Given the description of an element on the screen output the (x, y) to click on. 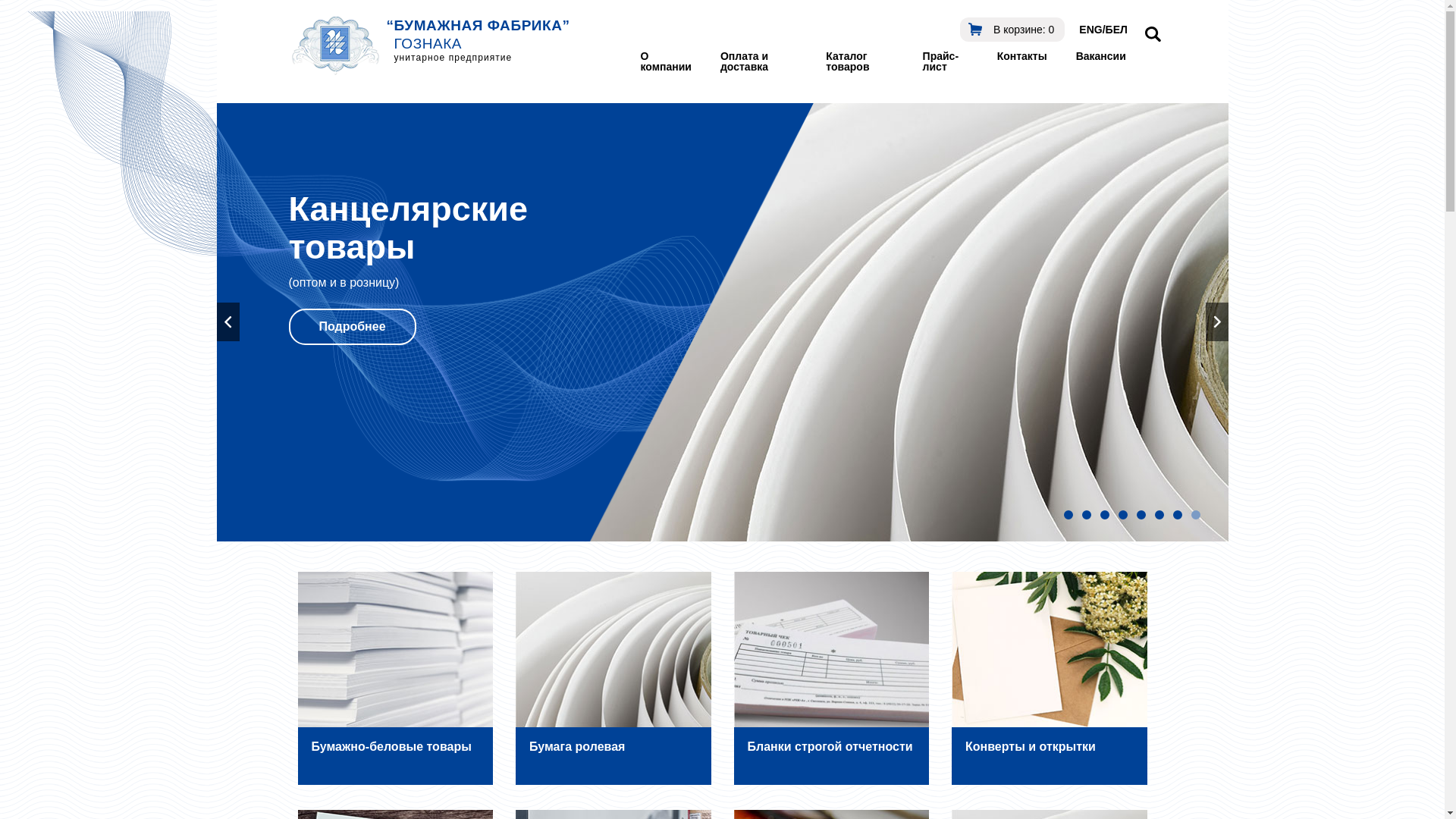
4 Element type: text (1121, 514)
2 Element type: text (1085, 514)
6 Element type: text (1158, 514)
5 Element type: text (1140, 514)
Next Element type: text (1216, 321)
1 Element type: text (1067, 514)
8 Element type: text (1194, 514)
7 Element type: text (1176, 514)
3 Element type: text (1103, 514)
Previous Element type: text (227, 321)
ENG Element type: text (1090, 29)
